Given the description of an element on the screen output the (x, y) to click on. 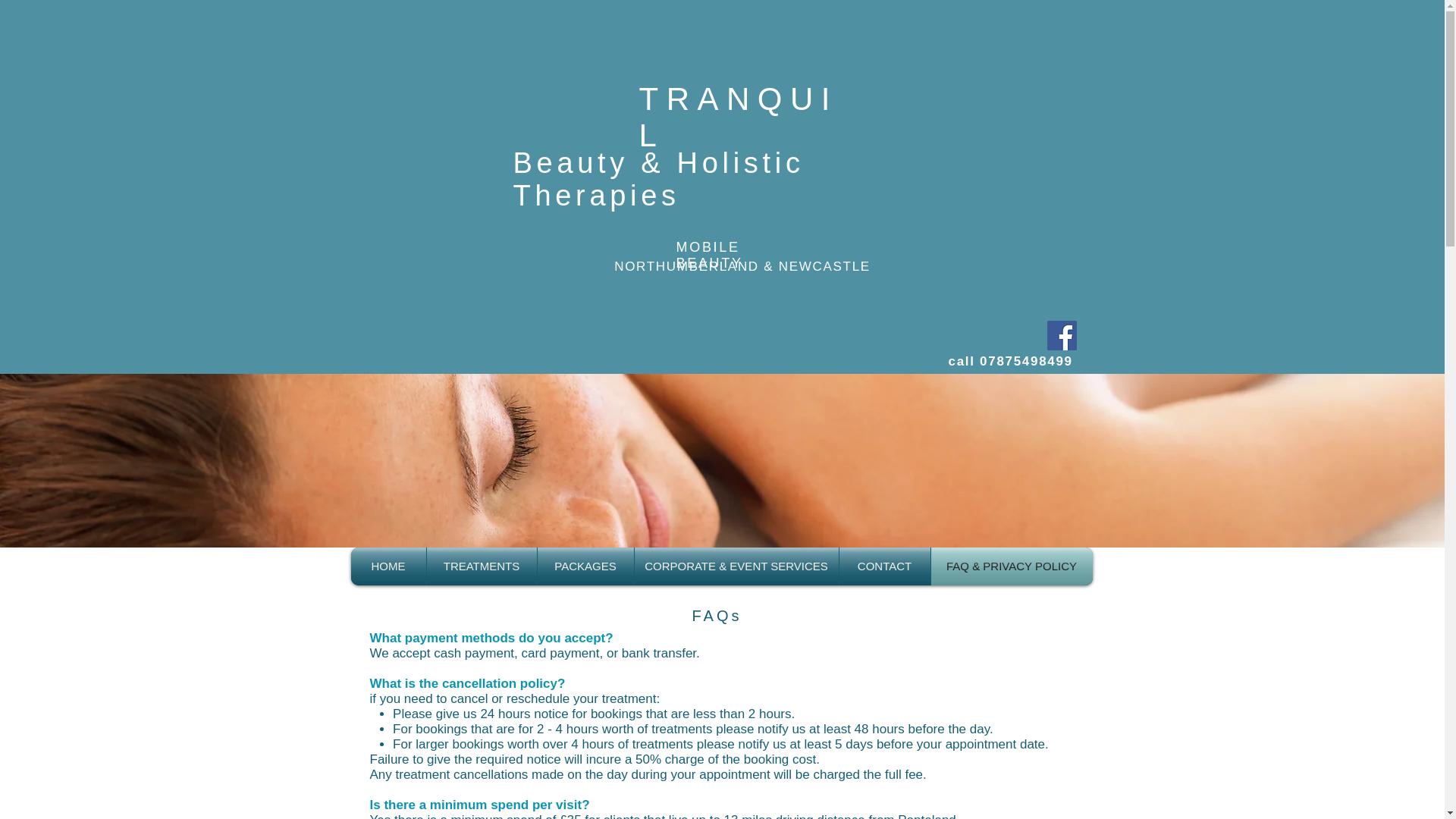
TREATMENTS (480, 566)
HOME (387, 566)
CONTACT (884, 566)
PACKAGES (585, 566)
